Given the description of an element on the screen output the (x, y) to click on. 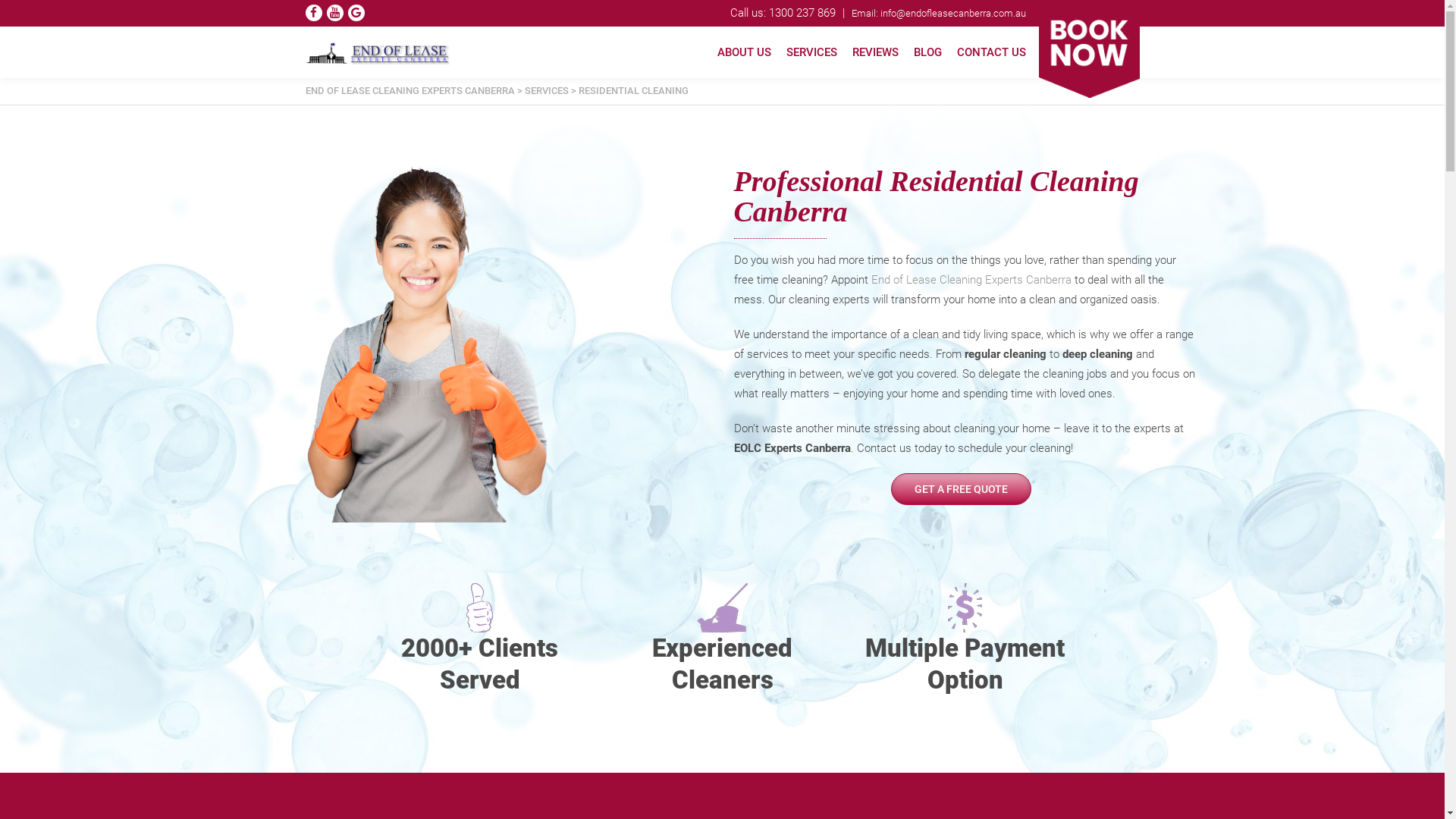
ABOUT US Element type: text (743, 52)
BLOG Element type: text (926, 52)
SERVICES Element type: text (546, 90)
1300 237 869 Element type: text (800, 12)
REVIEWS Element type: text (875, 52)
info@endofleasecanberra.com.au Element type: text (952, 12)
CONTACT US Element type: text (991, 52)
SERVICES Element type: text (811, 52)
End of Lease Cleaning Experts Canberra Element type: text (970, 279)
END OF LEASE CLEANING EXPERTS CANBERRA Element type: text (409, 90)
GET A FREE QUOTE Element type: text (961, 489)
